Given the description of an element on the screen output the (x, y) to click on. 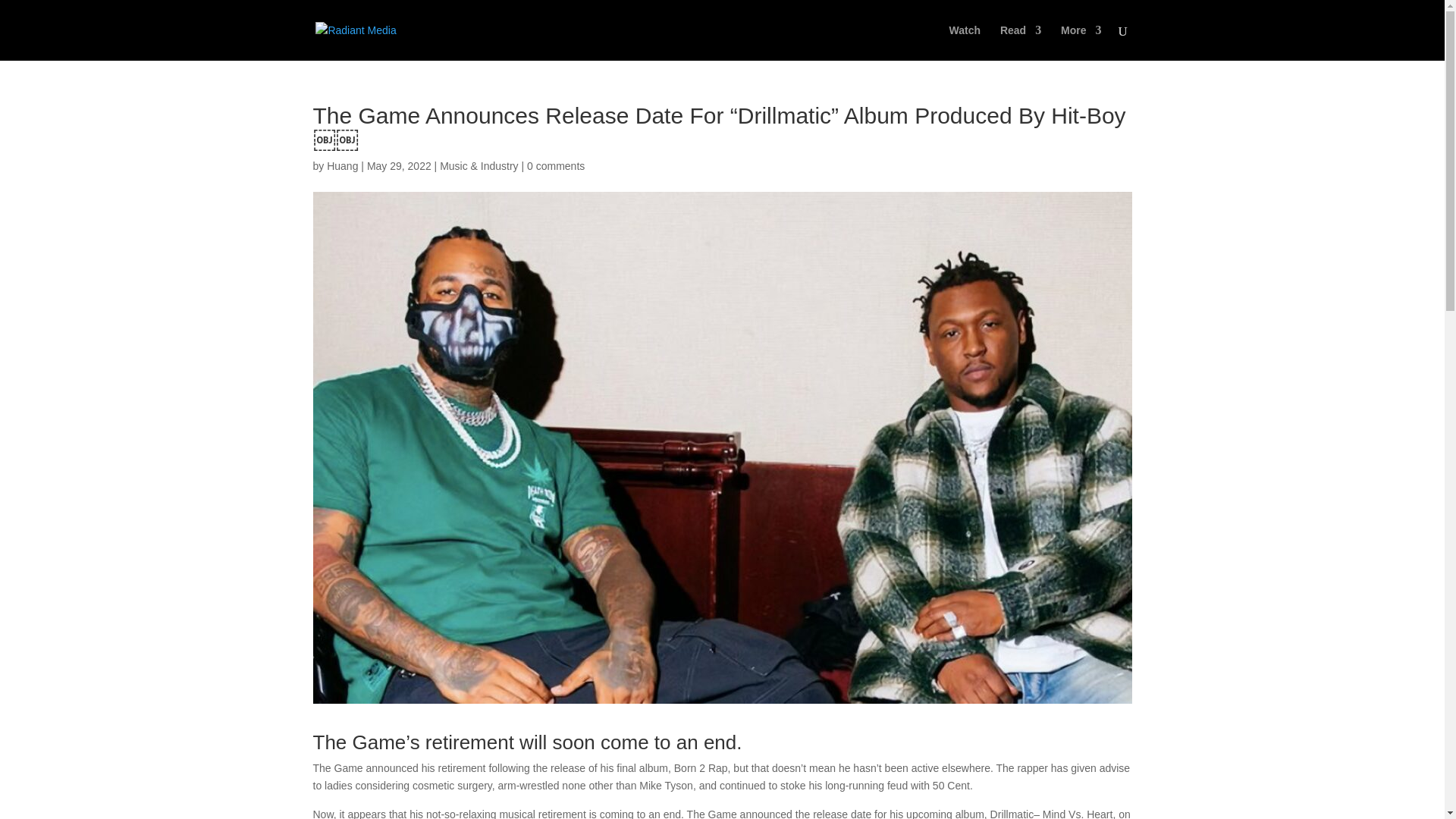
Huang (342, 165)
Posts by Huang (342, 165)
More (1080, 42)
Read (1020, 42)
0 comments (556, 165)
